Given the description of an element on the screen output the (x, y) to click on. 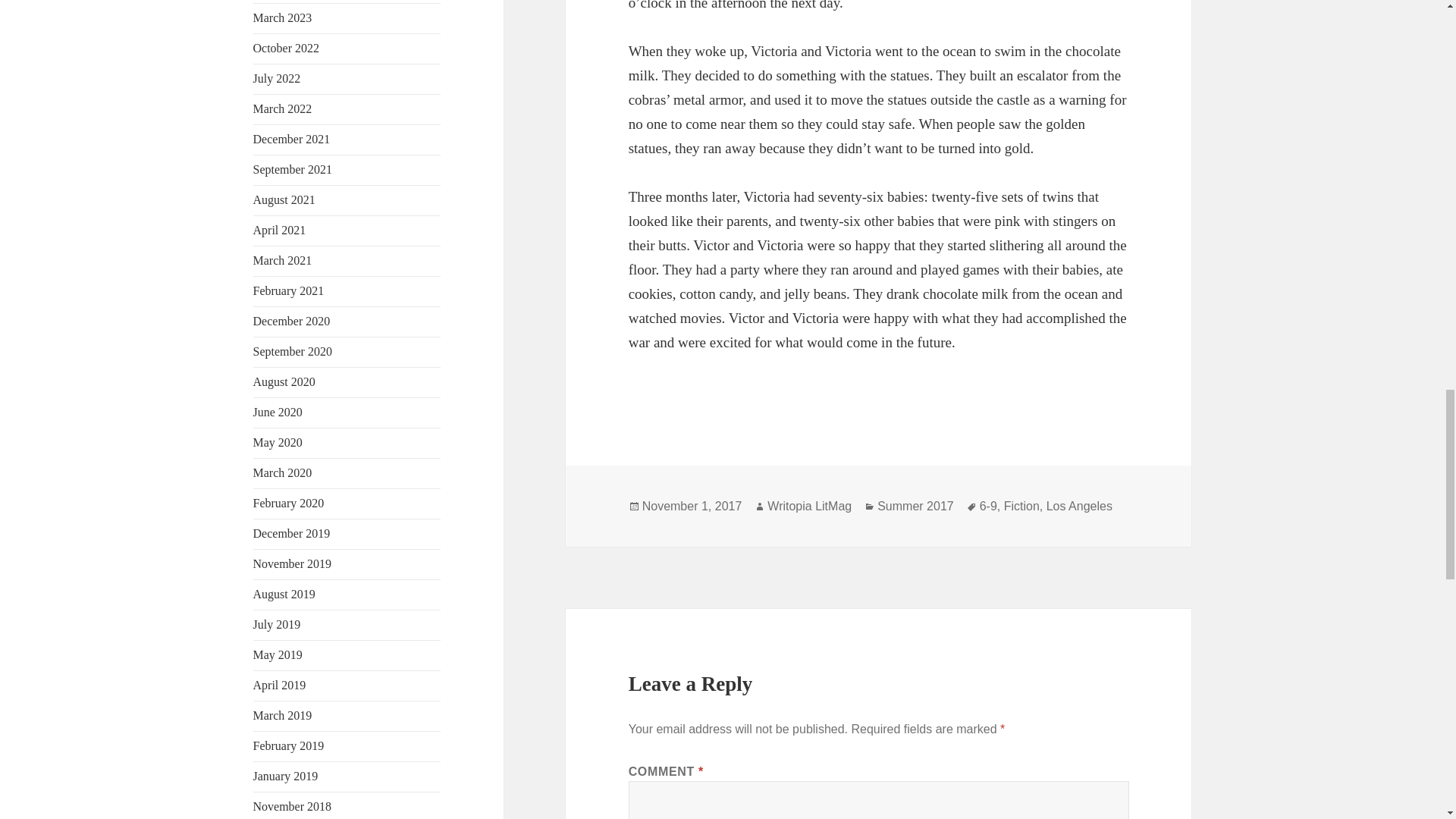
April 2021 (279, 229)
December 2020 (291, 320)
August 2020 (284, 381)
March 2021 (283, 259)
December 2021 (291, 138)
July 2022 (277, 78)
February 2021 (288, 290)
August 2021 (284, 199)
October 2022 (286, 47)
September 2020 (292, 350)
